Given the description of an element on the screen output the (x, y) to click on. 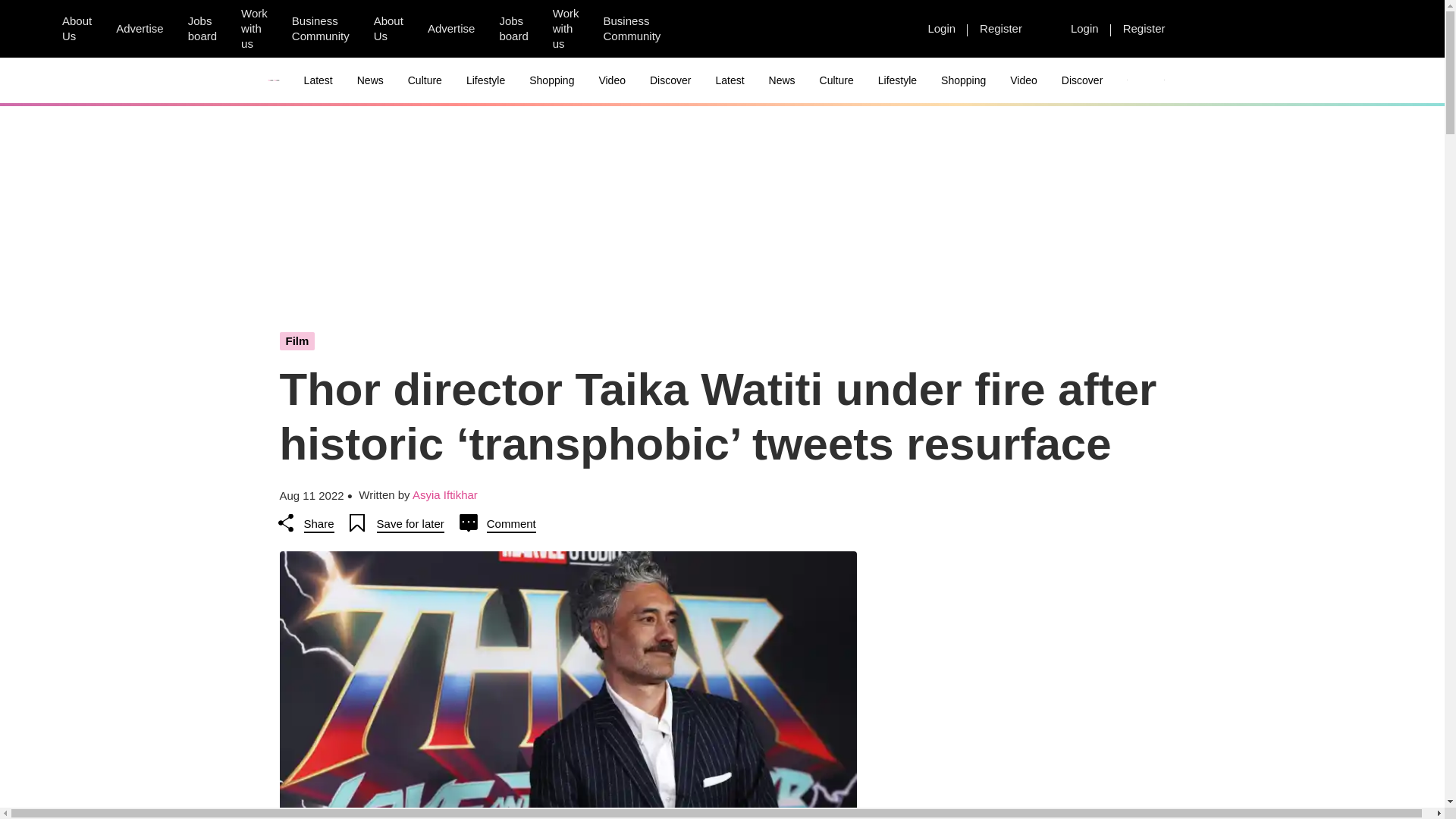
Follow PinkNews on LinkedIn (775, 28)
Follow PinkNews on LinkedIn (885, 28)
Work with us (565, 28)
Latest (318, 79)
Work with us (253, 28)
Jobs board (513, 28)
Advertise (139, 28)
Login (1084, 28)
Business Community (631, 28)
Register (1000, 28)
About Us (76, 28)
Register (1143, 28)
Business Community (320, 28)
Advertise (450, 28)
Jobs board (202, 28)
